Given the description of an element on the screen output the (x, y) to click on. 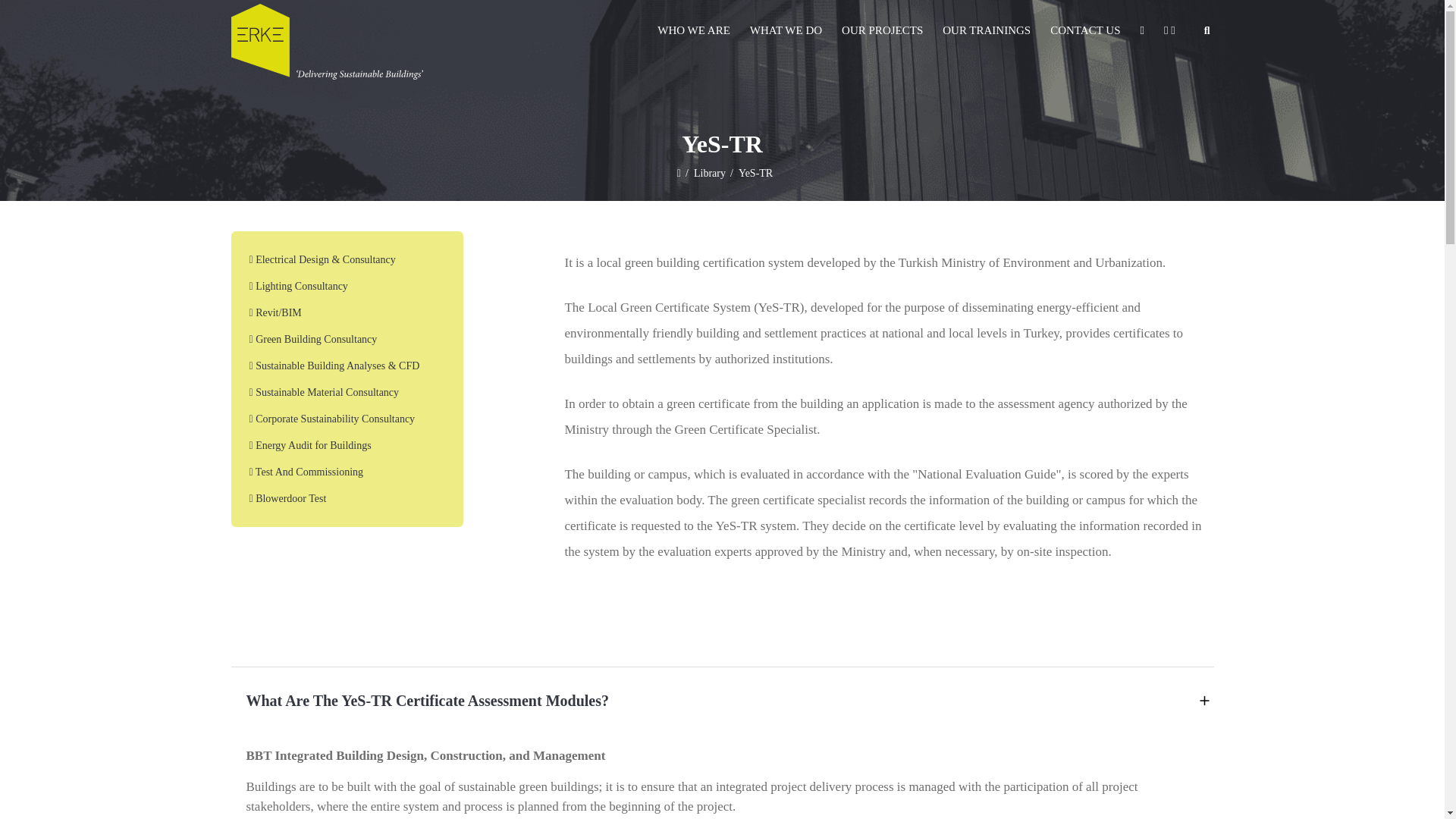
Green Building Consultancy (346, 338)
OUR TRAININGS (987, 30)
Library (706, 173)
Lighting Consultancy (346, 285)
CONTACT US (1085, 30)
WHO WE ARE (693, 30)
OUR PROJECTS (882, 30)
WHAT WE DO (785, 30)
YeS-TR (752, 173)
